Given the description of an element on the screen output the (x, y) to click on. 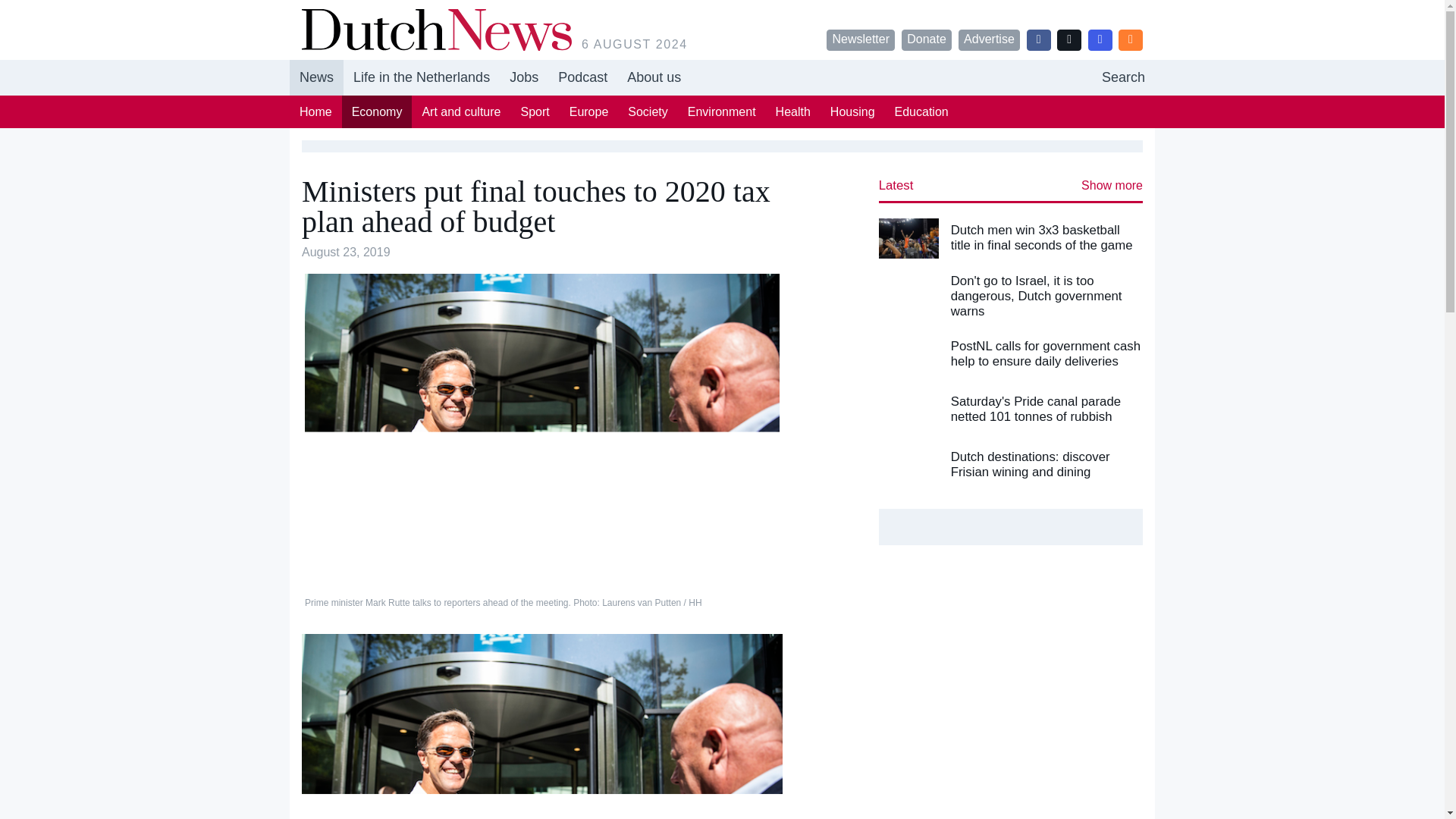
hidden-in-footer (523, 77)
Europe (588, 111)
Sport (535, 111)
News (316, 77)
Newsletter (861, 39)
Economy (377, 111)
Search (1123, 77)
Life in the Netherlands (421, 77)
Home (315, 111)
Health (793, 111)
Housing (853, 111)
About us (653, 77)
Art and culture (461, 111)
Jobs (523, 77)
Society (647, 111)
